Given the description of an element on the screen output the (x, y) to click on. 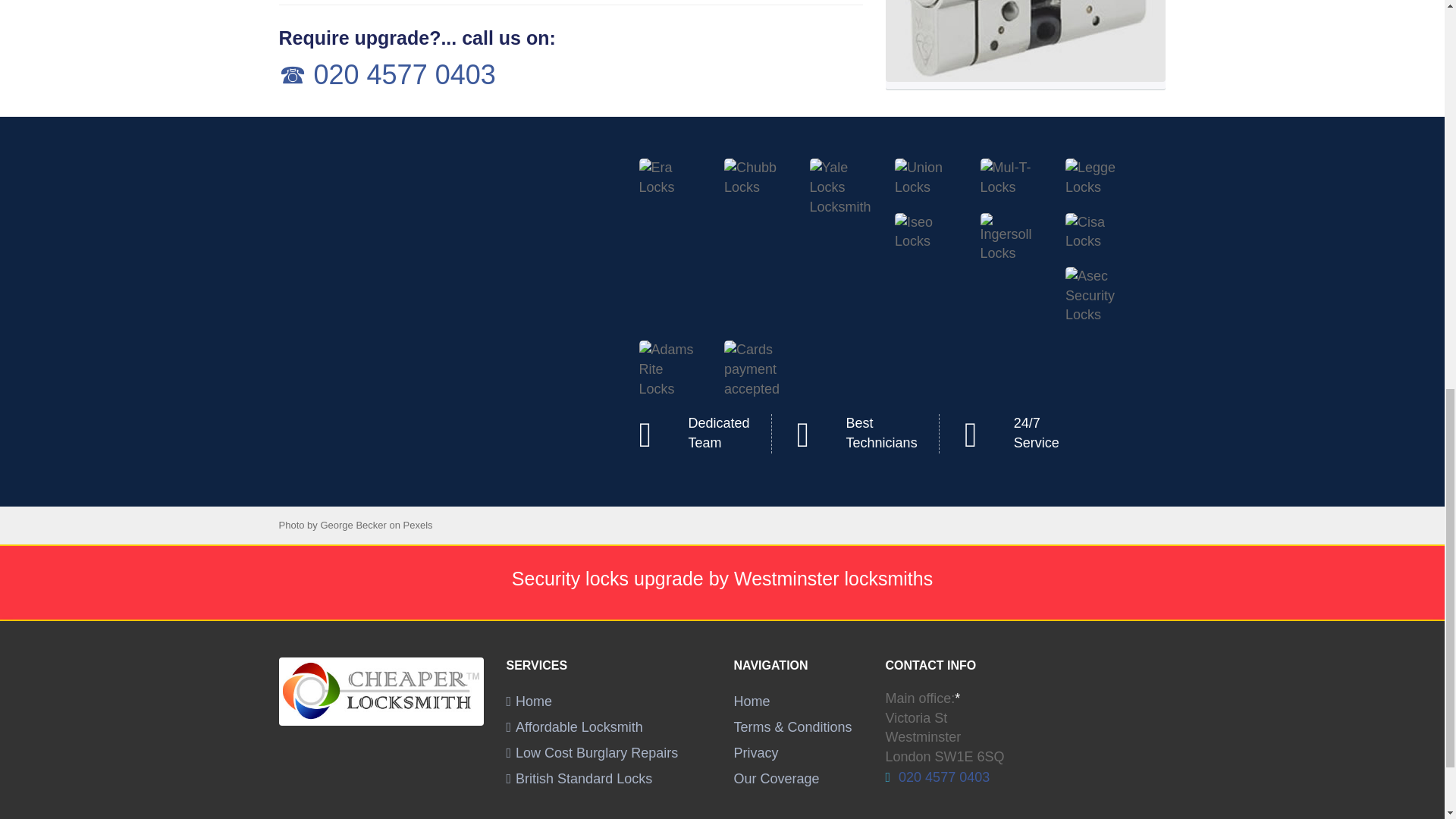
Privacy (755, 752)
British Standard Locks (579, 778)
Pexels (417, 524)
Affordable Locksmith (574, 726)
020 4577 0403 (942, 776)
British Standard locks installation in Westminster (579, 778)
Home (529, 701)
George Becker (352, 524)
Low Cost Burglary repairs in Westminster (592, 752)
Low Cost Burglary Repairs (592, 752)
Affordable Westminster Locksmith Services (574, 726)
Our Coverage (776, 778)
Home (751, 701)
Affordable cheap Locksmith in Westminster (529, 701)
